Given the description of an element on the screen output the (x, y) to click on. 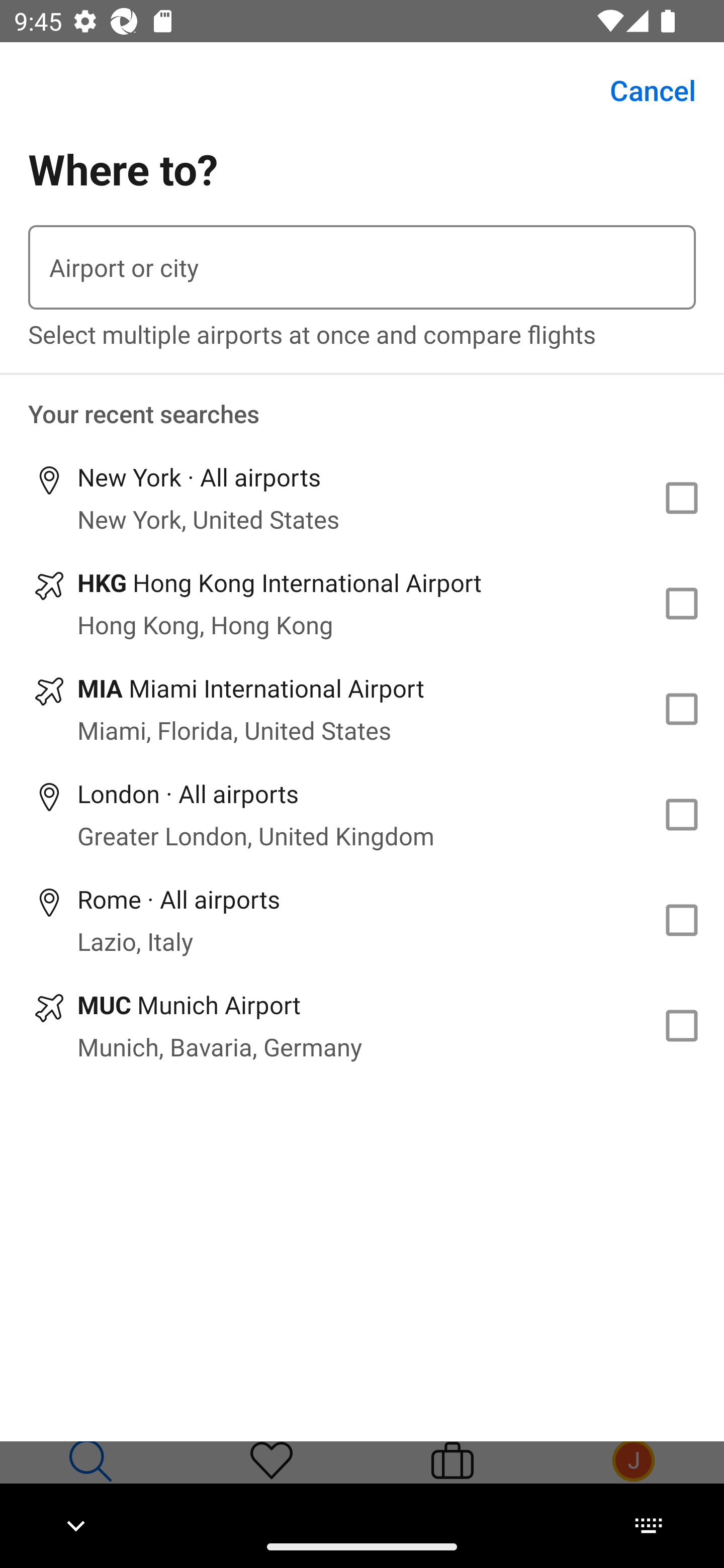
Cancel (641, 90)
Airport or city (361, 266)
New York · All airports New York, United States (362, 497)
Rome · All airports Lazio, Italy (362, 920)
MUC Munich Airport Munich, Bavaria, Germany (362, 1025)
